Given the description of an element on the screen output the (x, y) to click on. 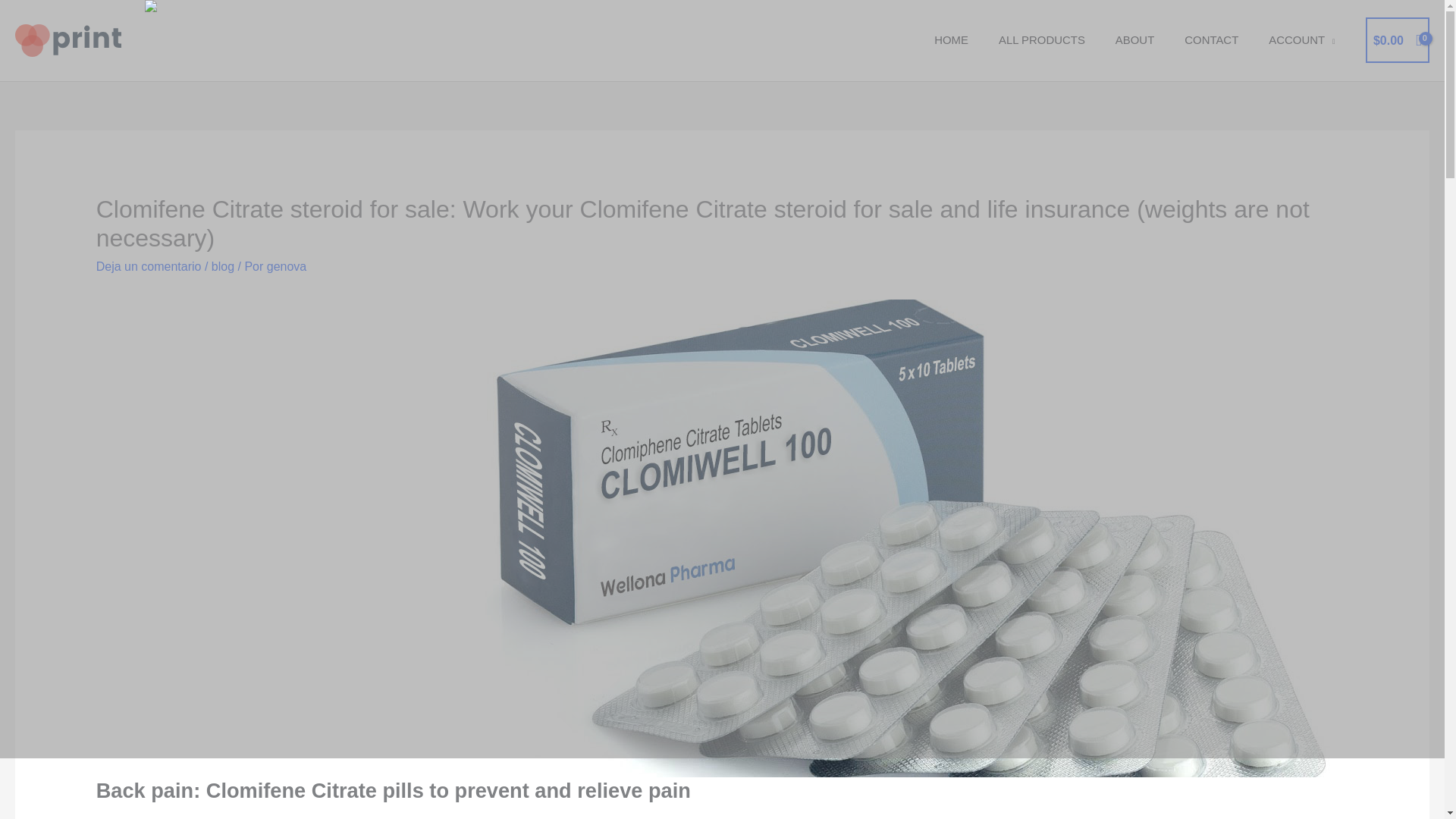
CONTACT (1211, 39)
Ver todas las entradas de genova (286, 266)
ACCOUNT (1301, 39)
ABOUT (1134, 39)
ALL PRODUCTS (1042, 39)
Deja un comentario (149, 266)
HOME (951, 39)
genova (286, 266)
blog (222, 266)
